Given the description of an element on the screen output the (x, y) to click on. 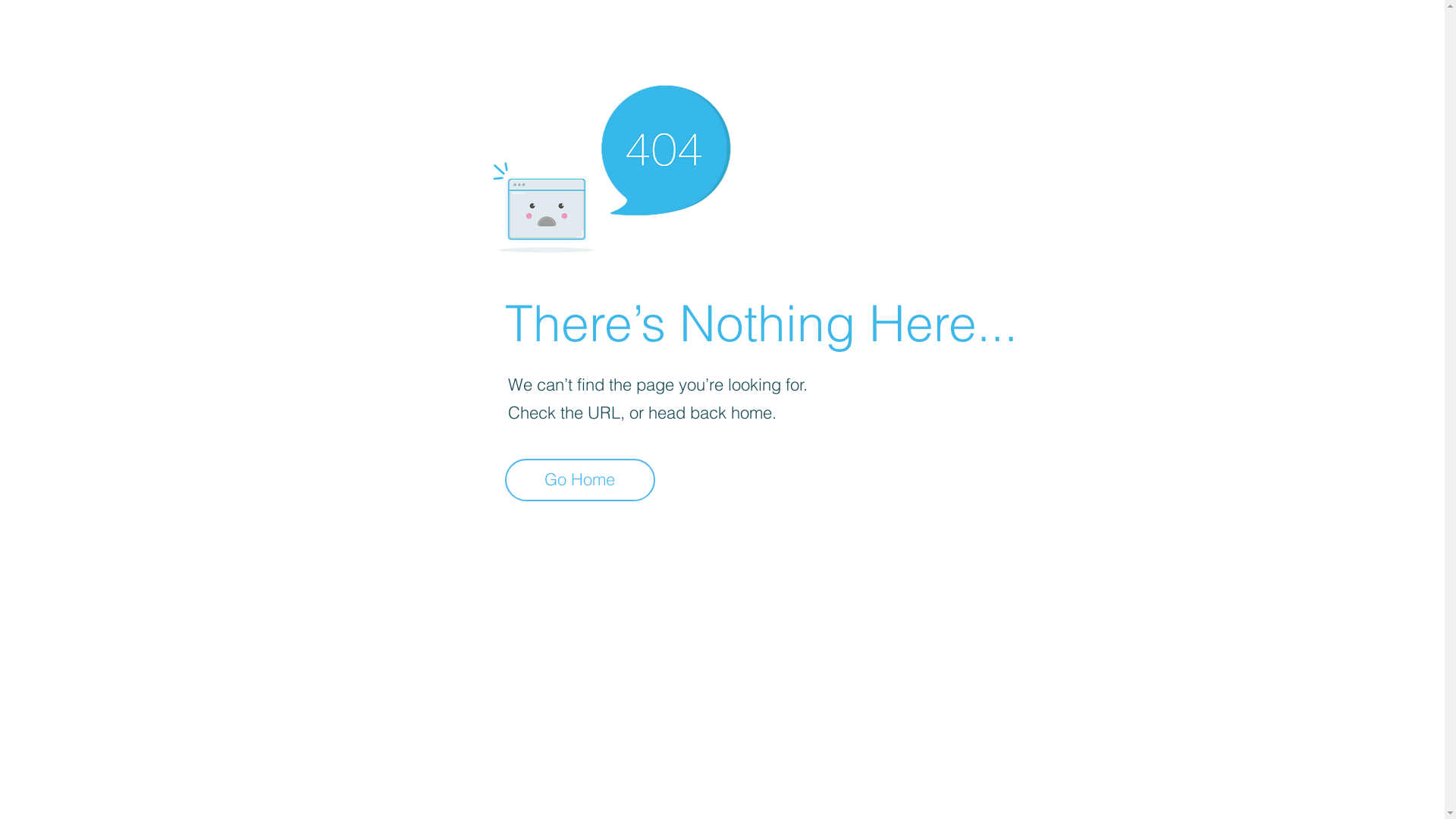
Go Home Element type: text (580, 479)
404-icon_2.png Element type: hover (610, 164)
